Given the description of an element on the screen output the (x, y) to click on. 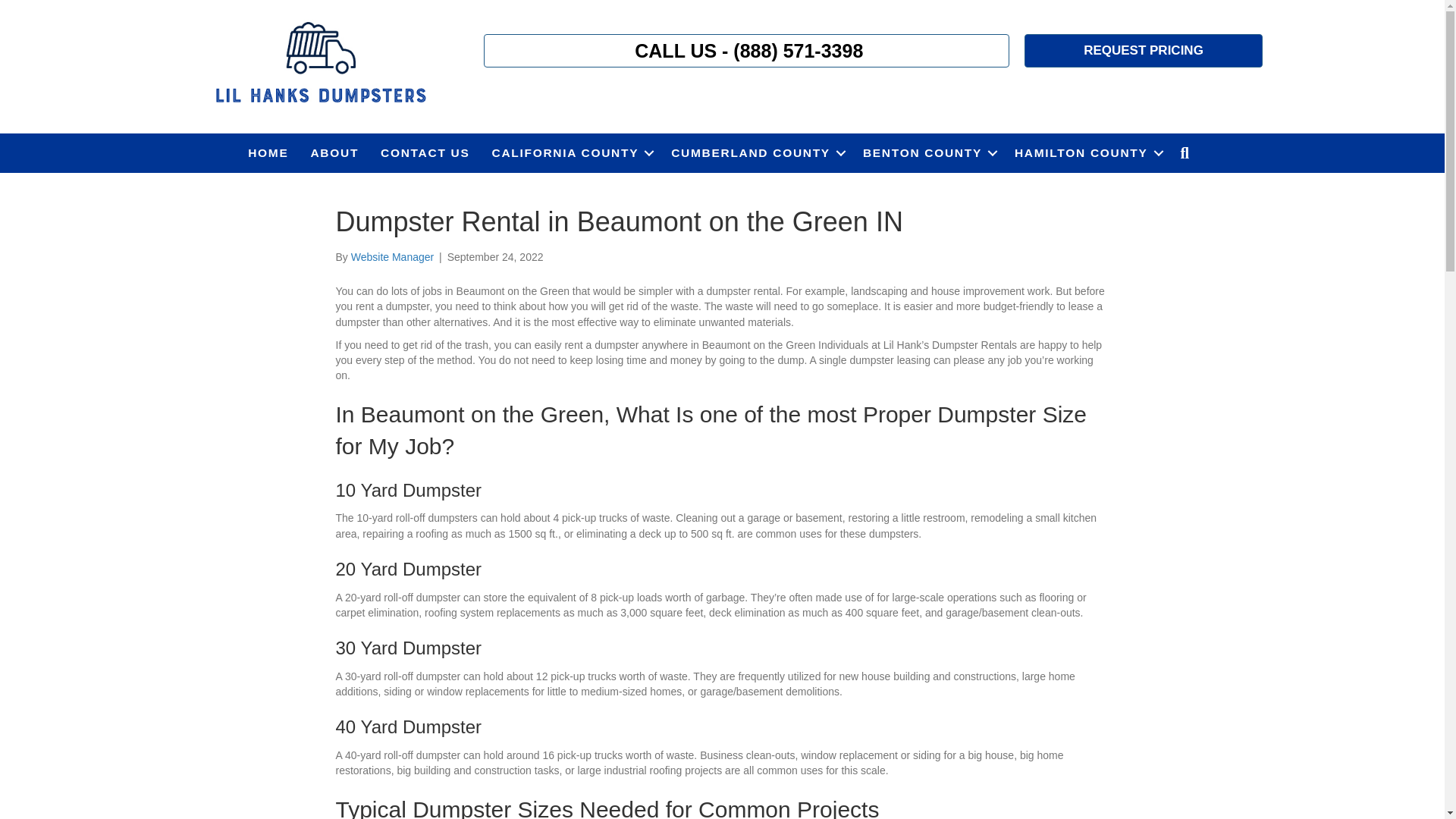
Lil Hanks (319, 64)
BENTON COUNTY (927, 152)
CONTACT US (424, 152)
ABOUT (334, 152)
HOME (267, 152)
REQUEST PRICING (1144, 50)
CUMBERLAND COUNTY (756, 152)
HAMILTON COUNTY (1086, 152)
CALIFORNIA COUNTY (571, 152)
